Given the description of an element on the screen output the (x, y) to click on. 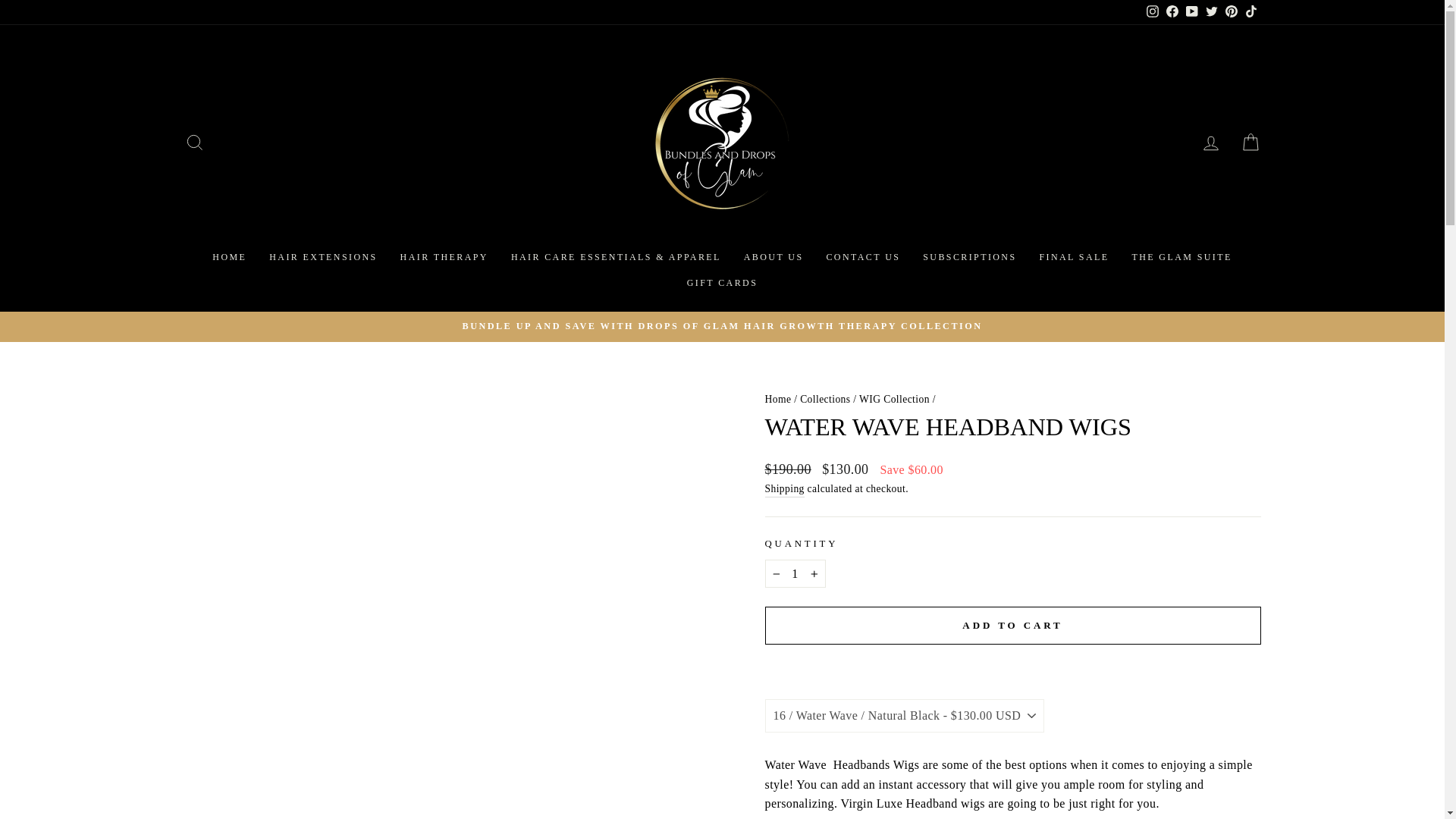
1 (794, 573)
Back to the frontpage (777, 398)
